Given the description of an element on the screen output the (x, y) to click on. 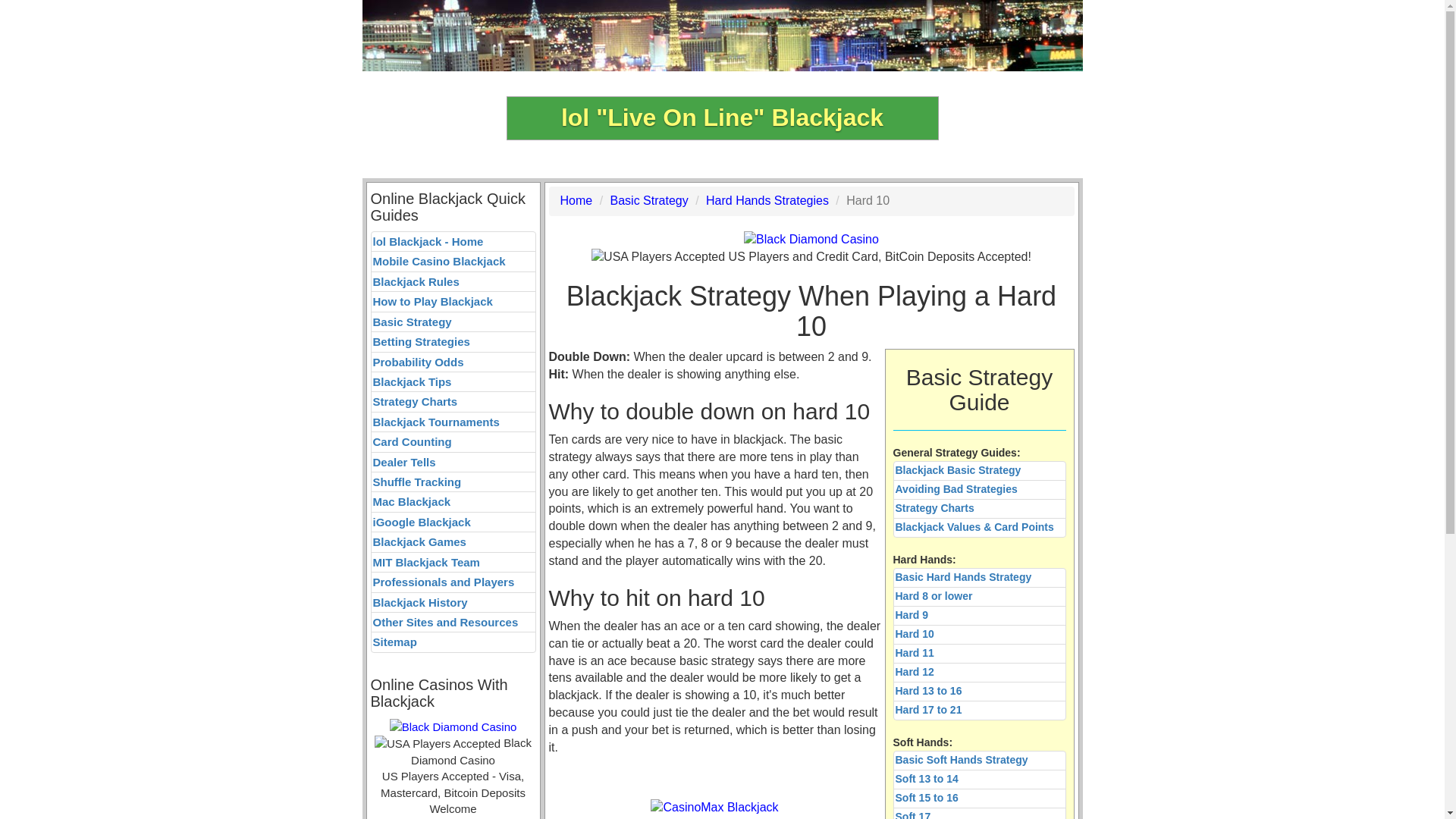
Basic Strategy (649, 200)
lol Blackjack - Home (452, 240)
Home (575, 200)
